Given the description of an element on the screen output the (x, y) to click on. 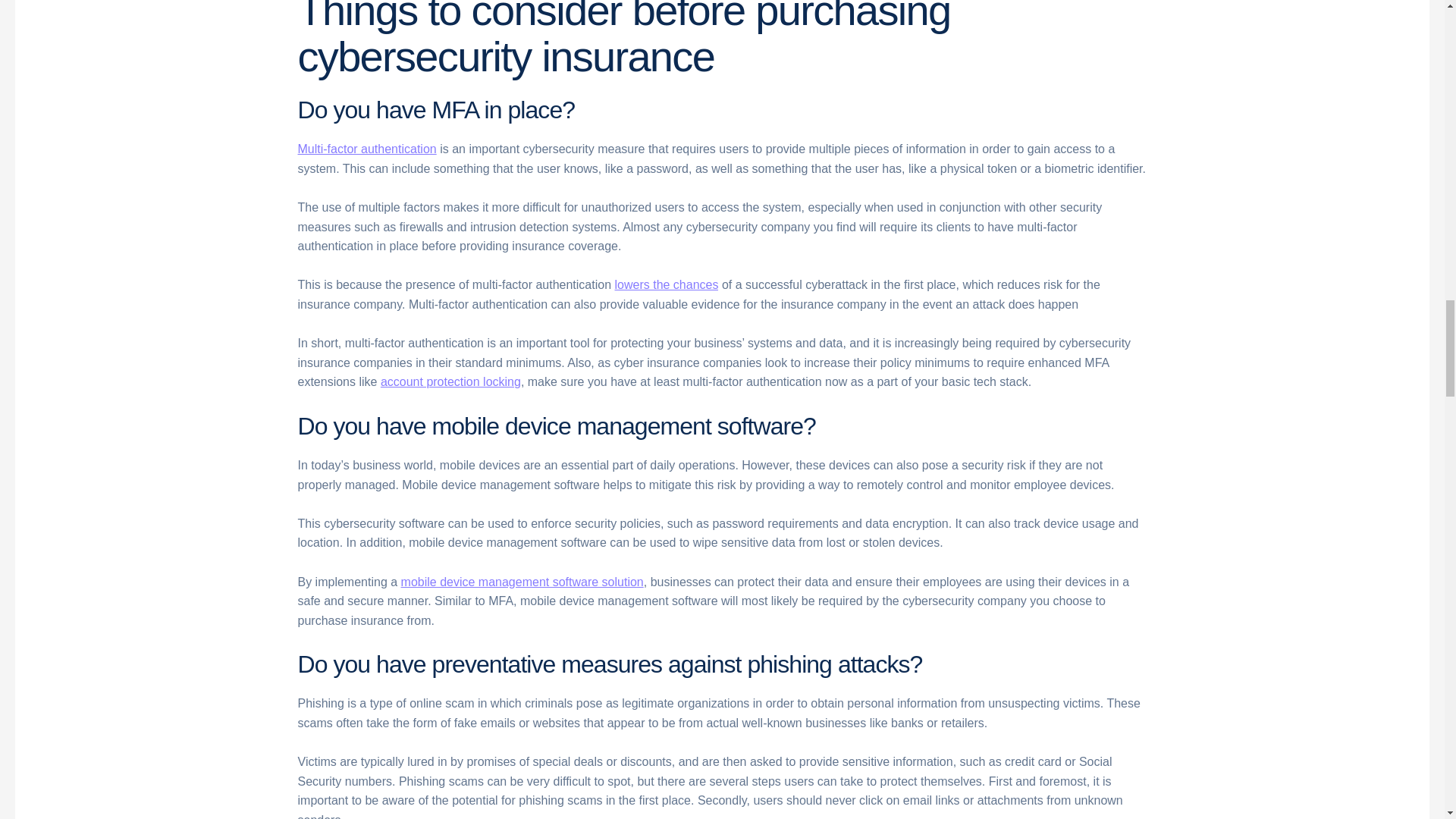
Multi-factor authentication (366, 148)
lowers the chances (665, 284)
mobile device management software solution (522, 581)
account protection locking (450, 381)
